Given the description of an element on the screen output the (x, y) to click on. 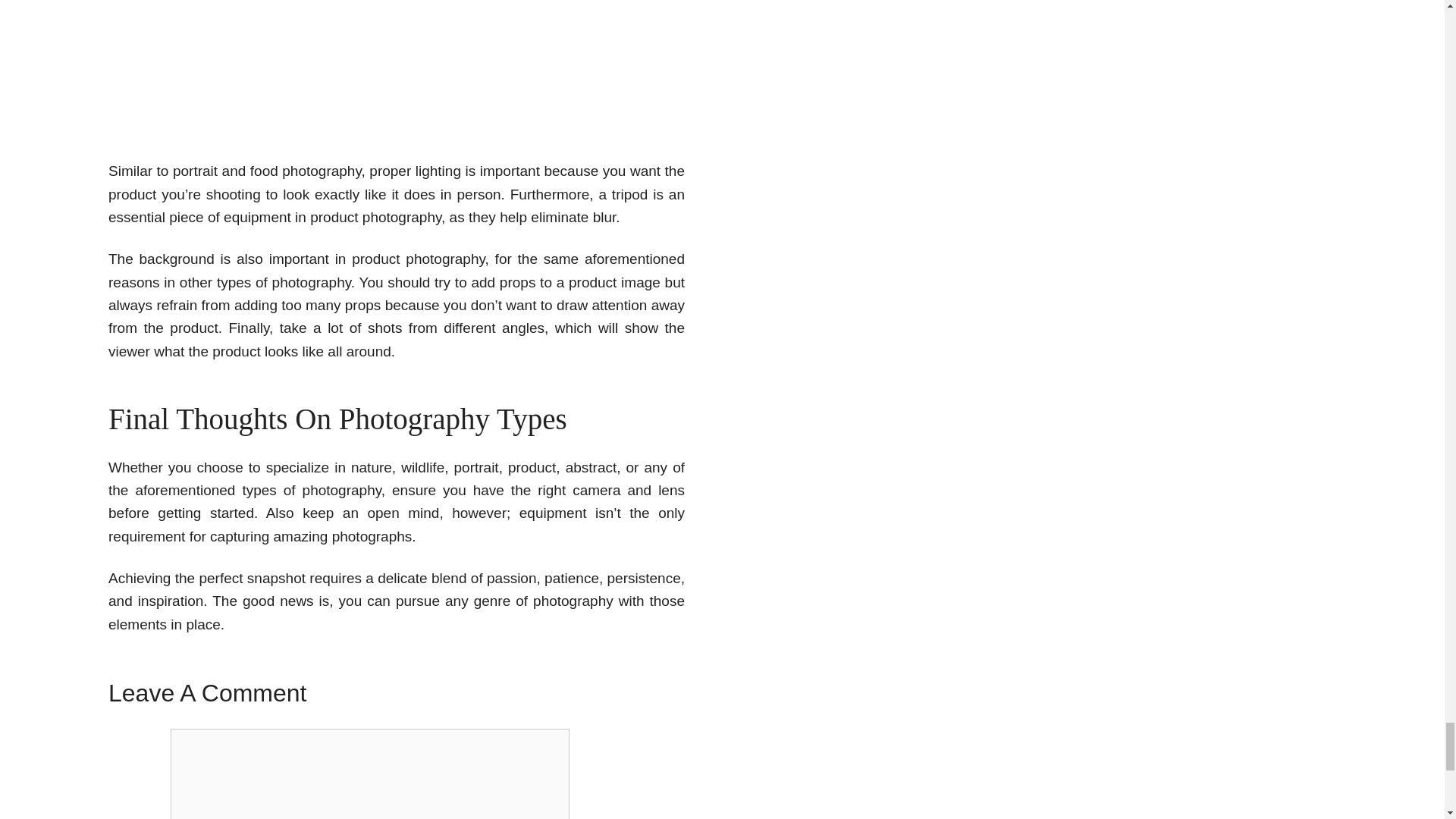
bottle with perfume (402, 67)
